Given the description of an element on the screen output the (x, y) to click on. 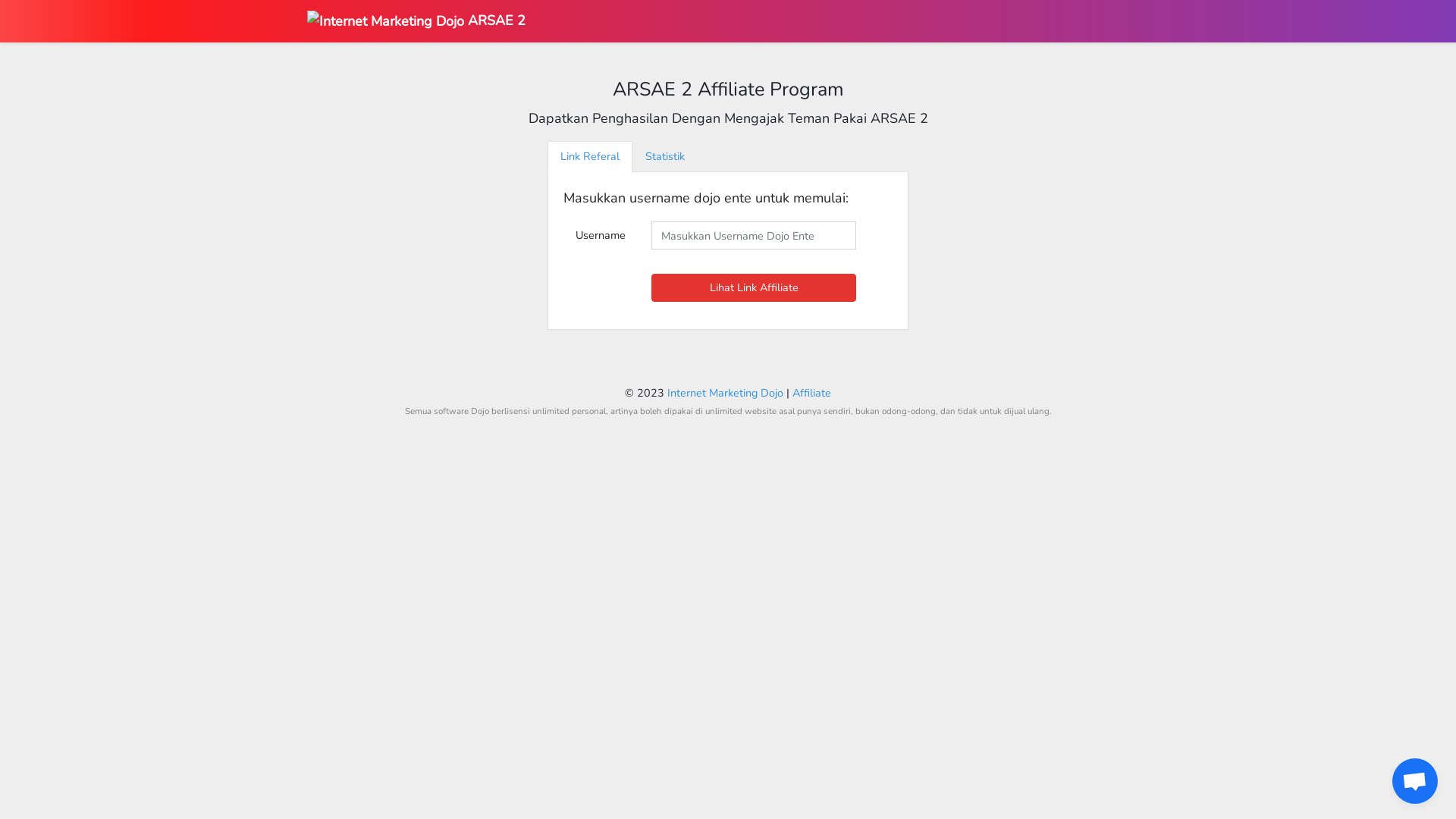
Lihat Link Affiliate Element type: text (753, 287)
Affiliate Element type: text (811, 392)
ARSAE 2 Element type: text (416, 21)
Link Referal Element type: text (589, 156)
Internet Marketing Dojo Element type: text (725, 392)
Statistik Element type: text (664, 156)
